Given the description of an element on the screen output the (x, y) to click on. 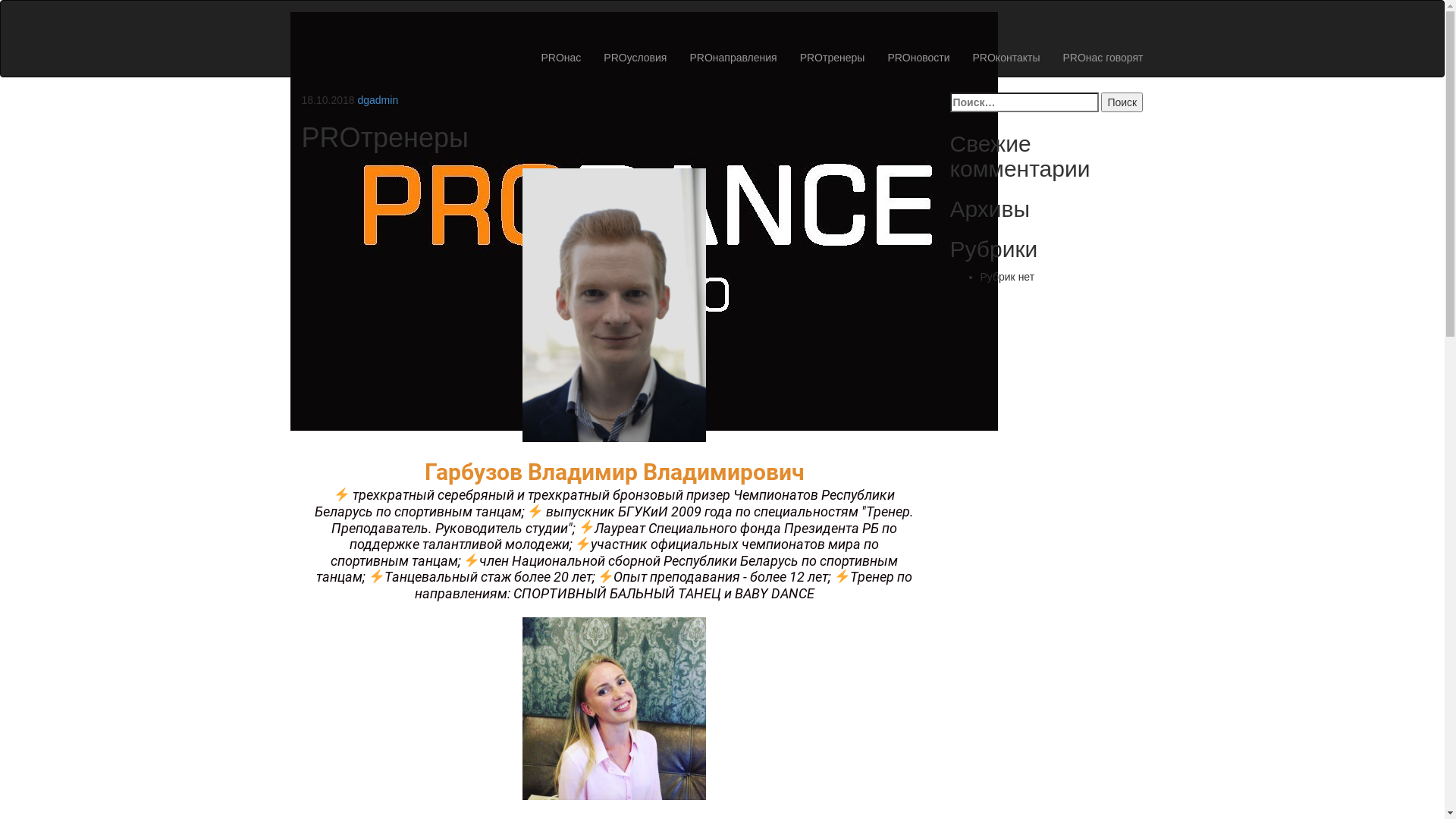
dgadmin Element type: text (377, 100)
